Given the description of an element on the screen output the (x, y) to click on. 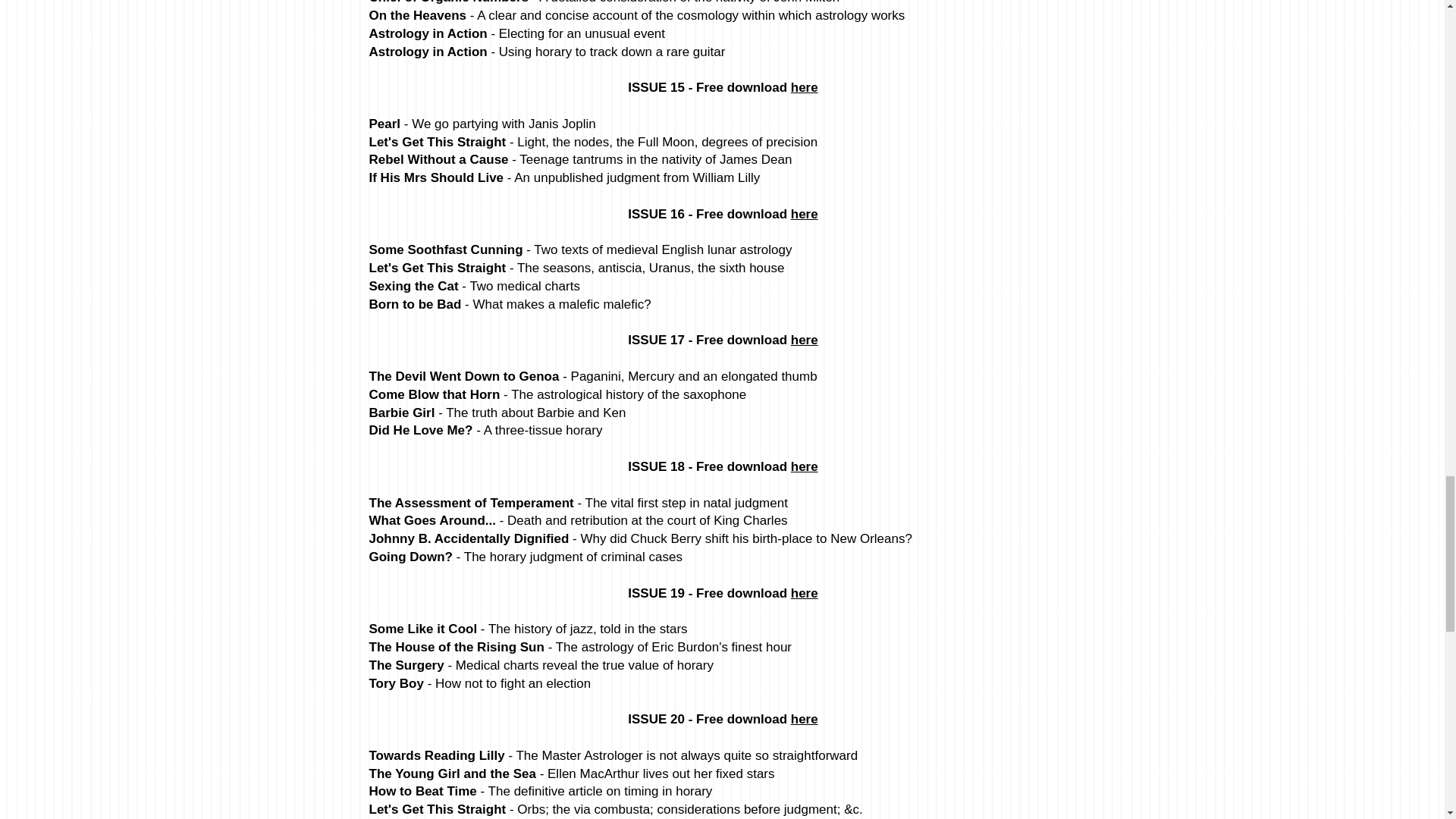
here (804, 718)
here (804, 339)
here (804, 87)
here (804, 466)
here (804, 214)
here (804, 593)
